Given the description of an element on the screen output the (x, y) to click on. 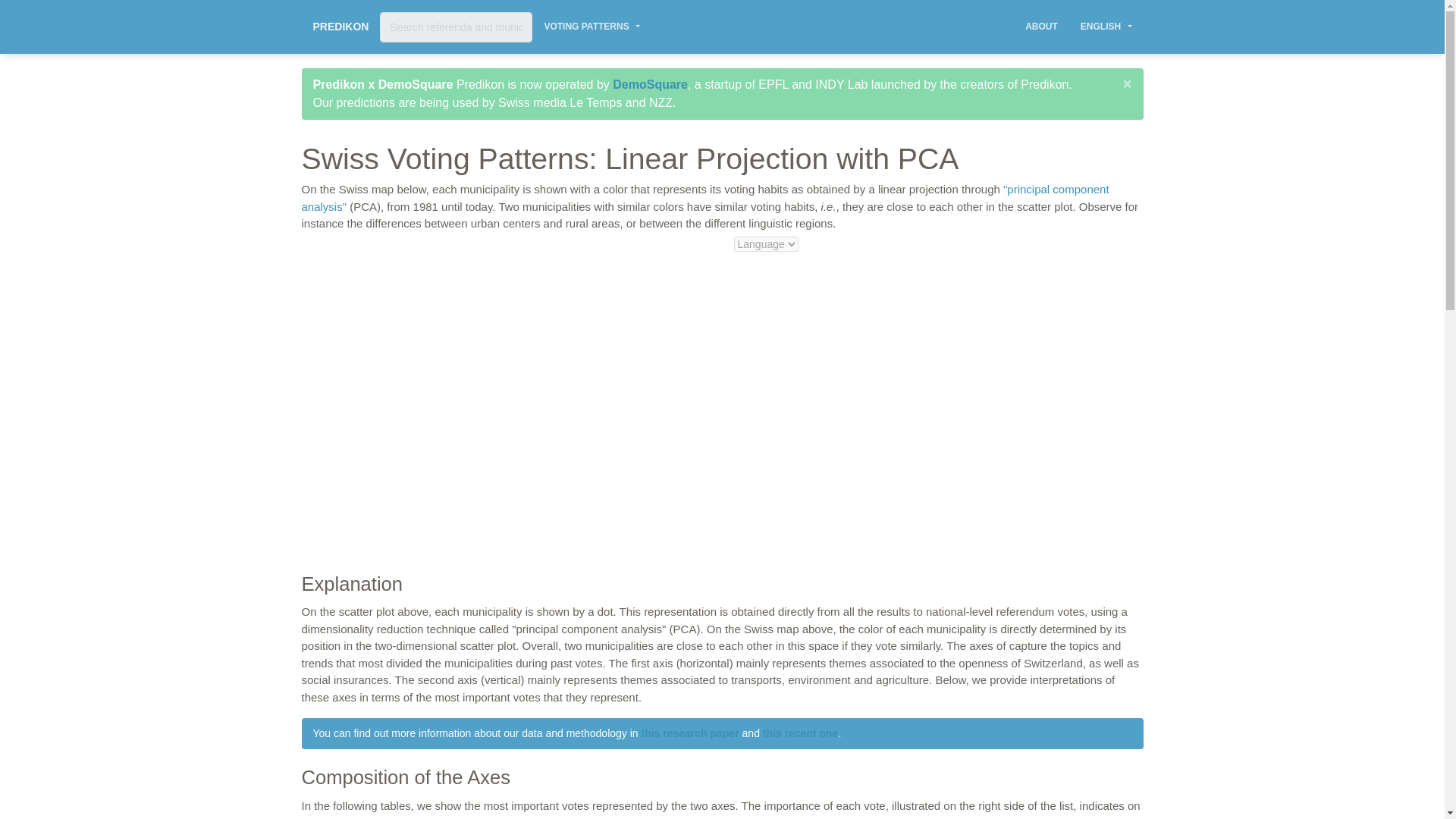
ABOUT (1040, 26)
this research paper (690, 733)
this recent one (800, 733)
ENGLISH (1105, 26)
VOTING PATTERNS (591, 26)
DemoSquare (649, 83)
PREDIKON (340, 26)
"principal component analysis" (705, 197)
